Given the description of an element on the screen output the (x, y) to click on. 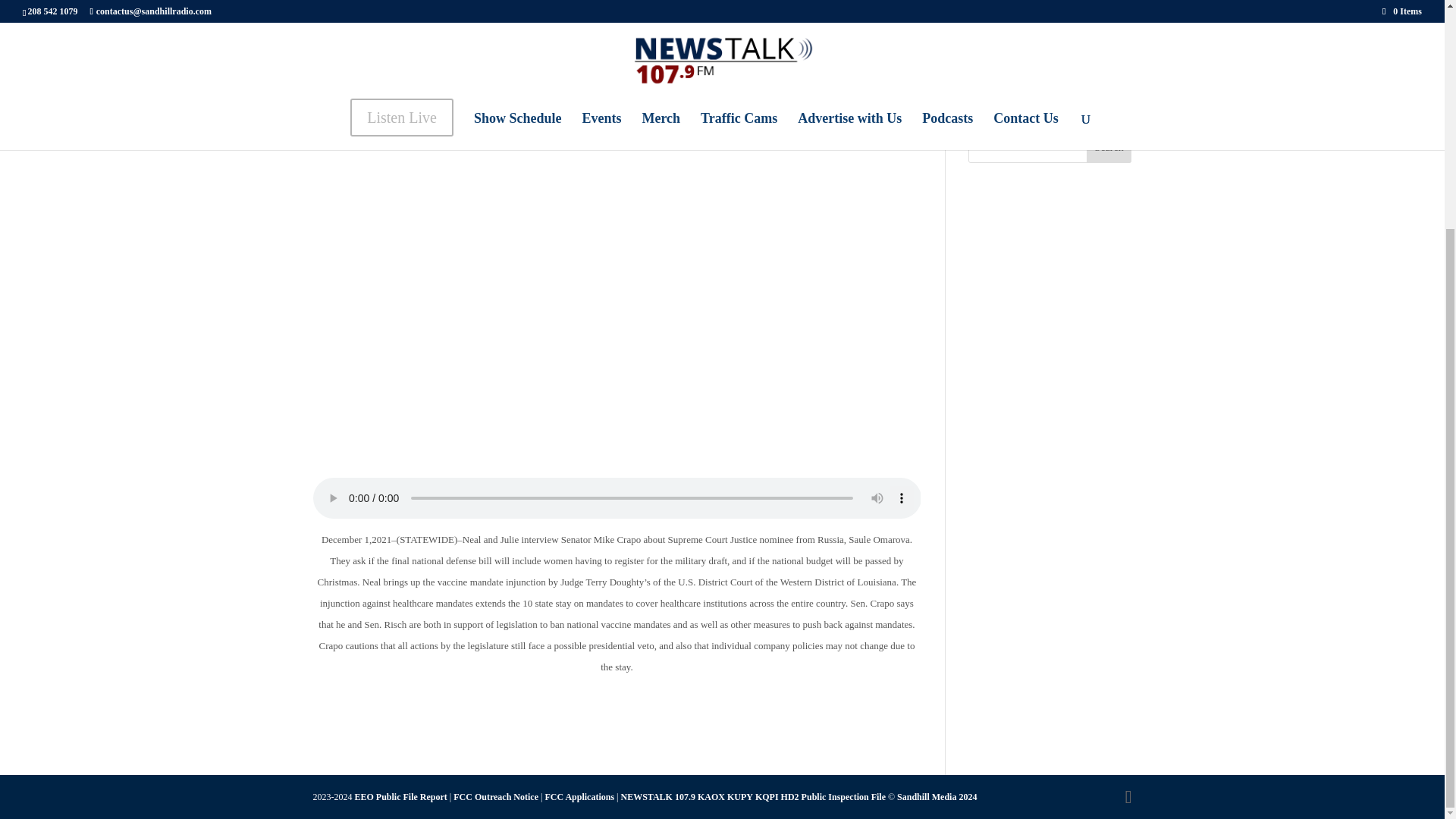
Search (1109, 147)
Posts by Heather Sampson (363, 48)
Sandhill Media 2024 (936, 796)
KUPY (739, 796)
EEO Public File Report (400, 796)
Podcasts (995, 70)
NEWSTALK 107.9 KAOX (671, 796)
Heather Sampson (363, 48)
Traffic Cams (1008, 12)
Contact Us (1001, 98)
Search (1109, 147)
Local-Regional News (513, 48)
FCC Outreach Notice (495, 796)
KQPI HD2 Public Inspection File (820, 796)
FCC Applications (579, 796)
